Given the description of an element on the screen output the (x, y) to click on. 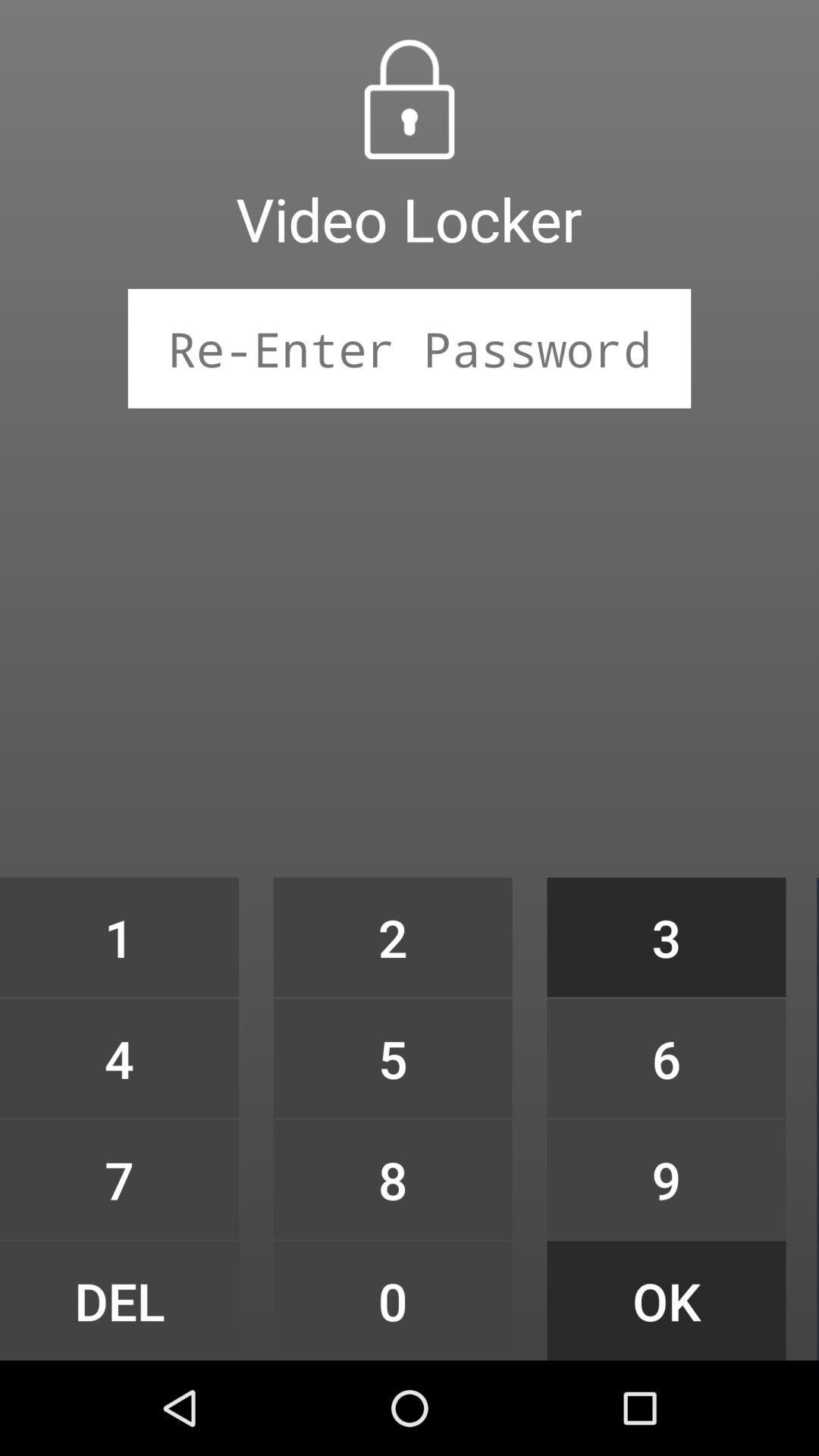
turn off the item above 8 item (392, 1058)
